Given the description of an element on the screen output the (x, y) to click on. 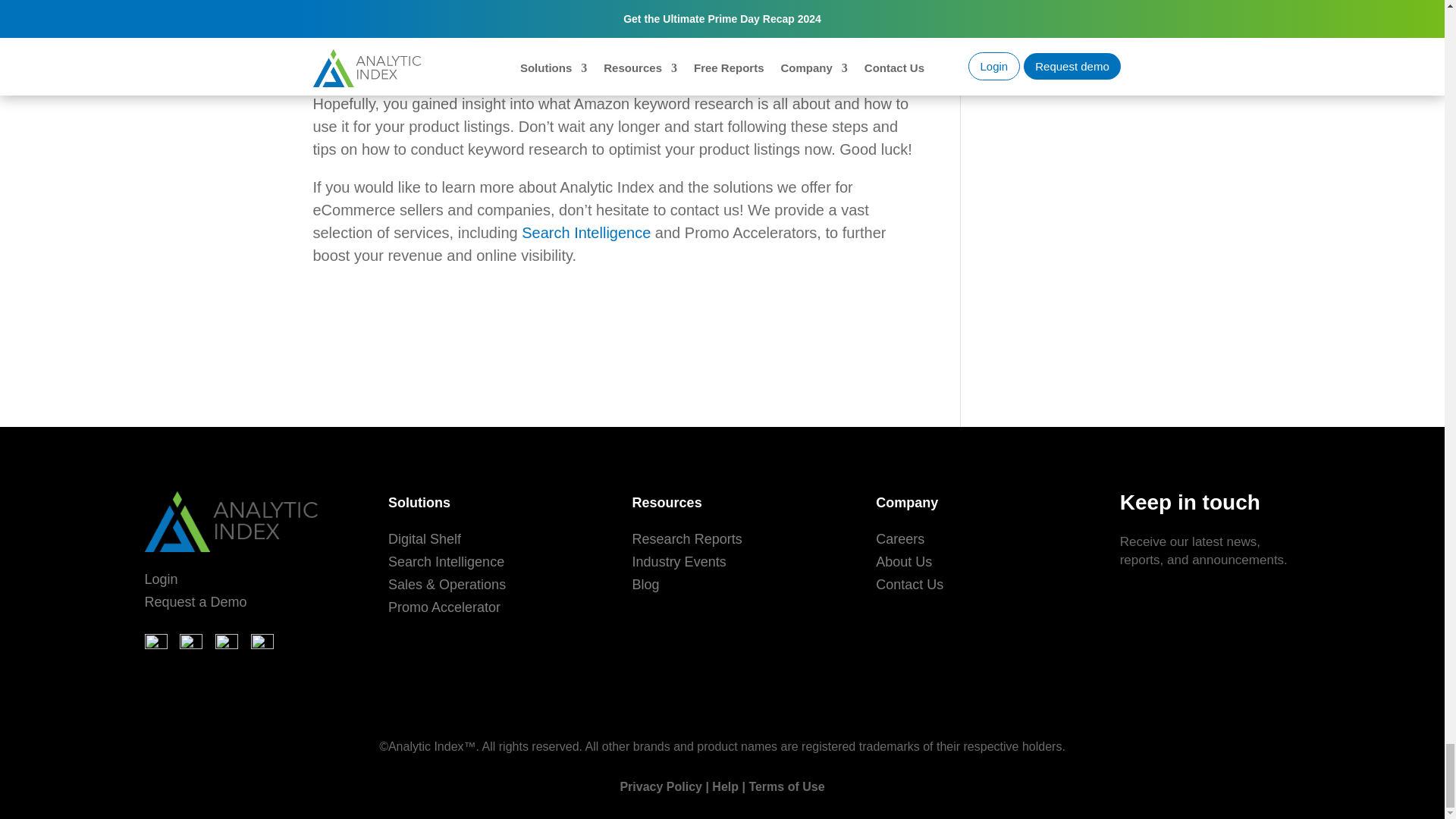
Analytic Index Logo (234, 521)
